Given the description of an element on the screen output the (x, y) to click on. 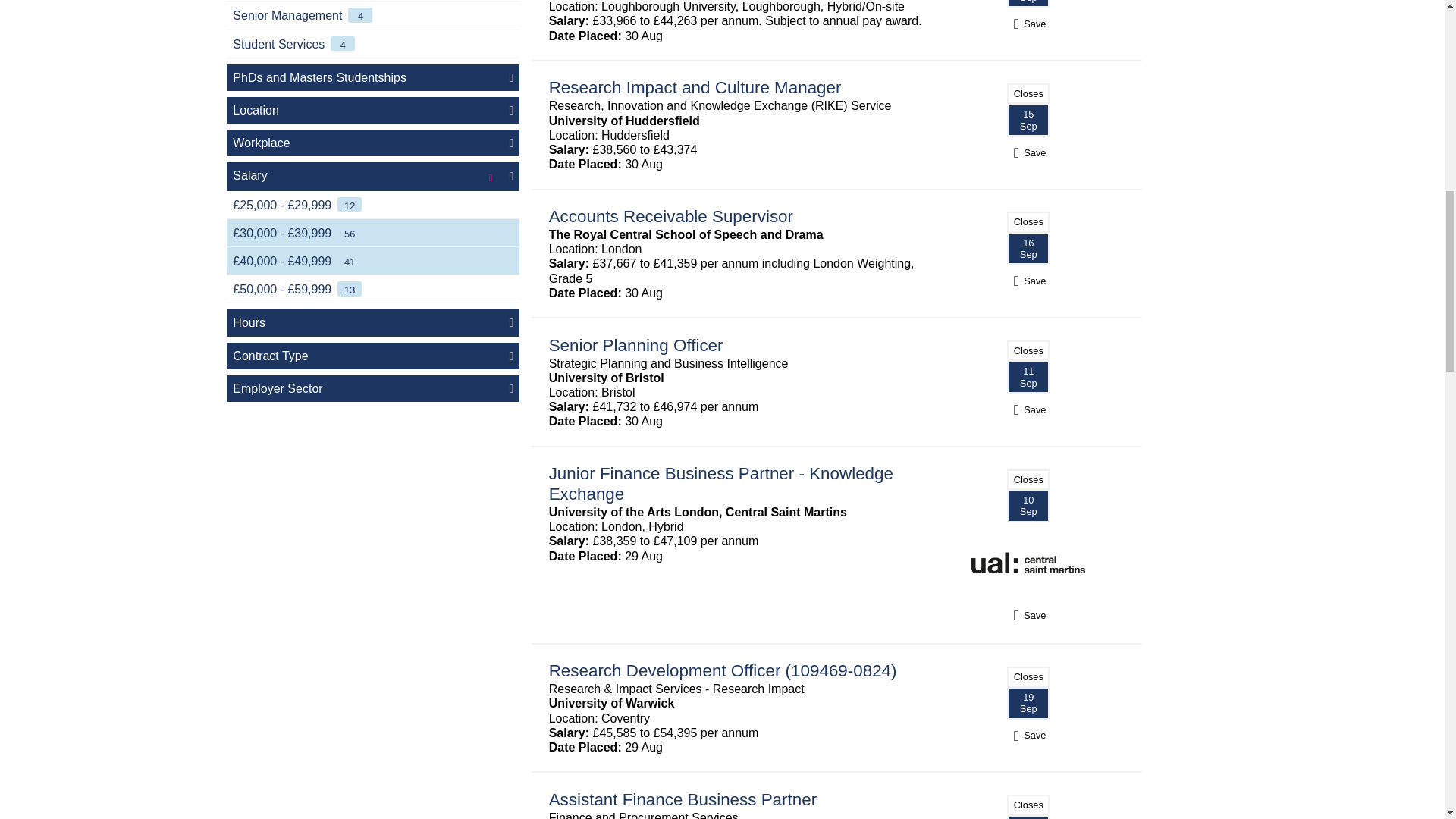
Save job (1027, 409)
Save job (1027, 280)
Save job (1027, 615)
Save job (1027, 23)
Save job (1027, 735)
Save job (1027, 152)
